Given the description of an element on the screen output the (x, y) to click on. 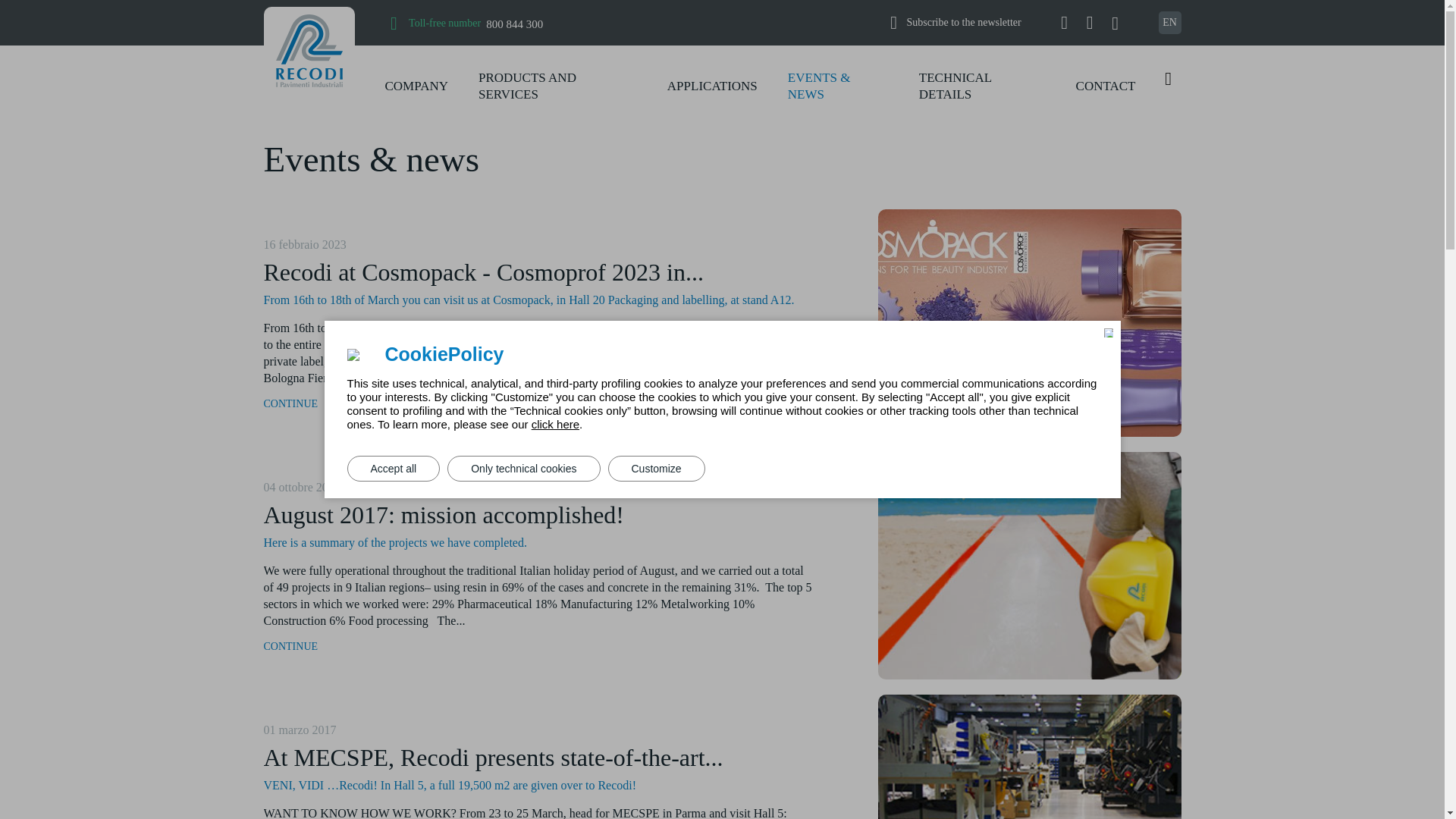
Facebook (1089, 22)
TECHNICAL DETAILS (551, 23)
Linkedin (954, 85)
Youtube (1064, 22)
